Given the description of an element on the screen output the (x, y) to click on. 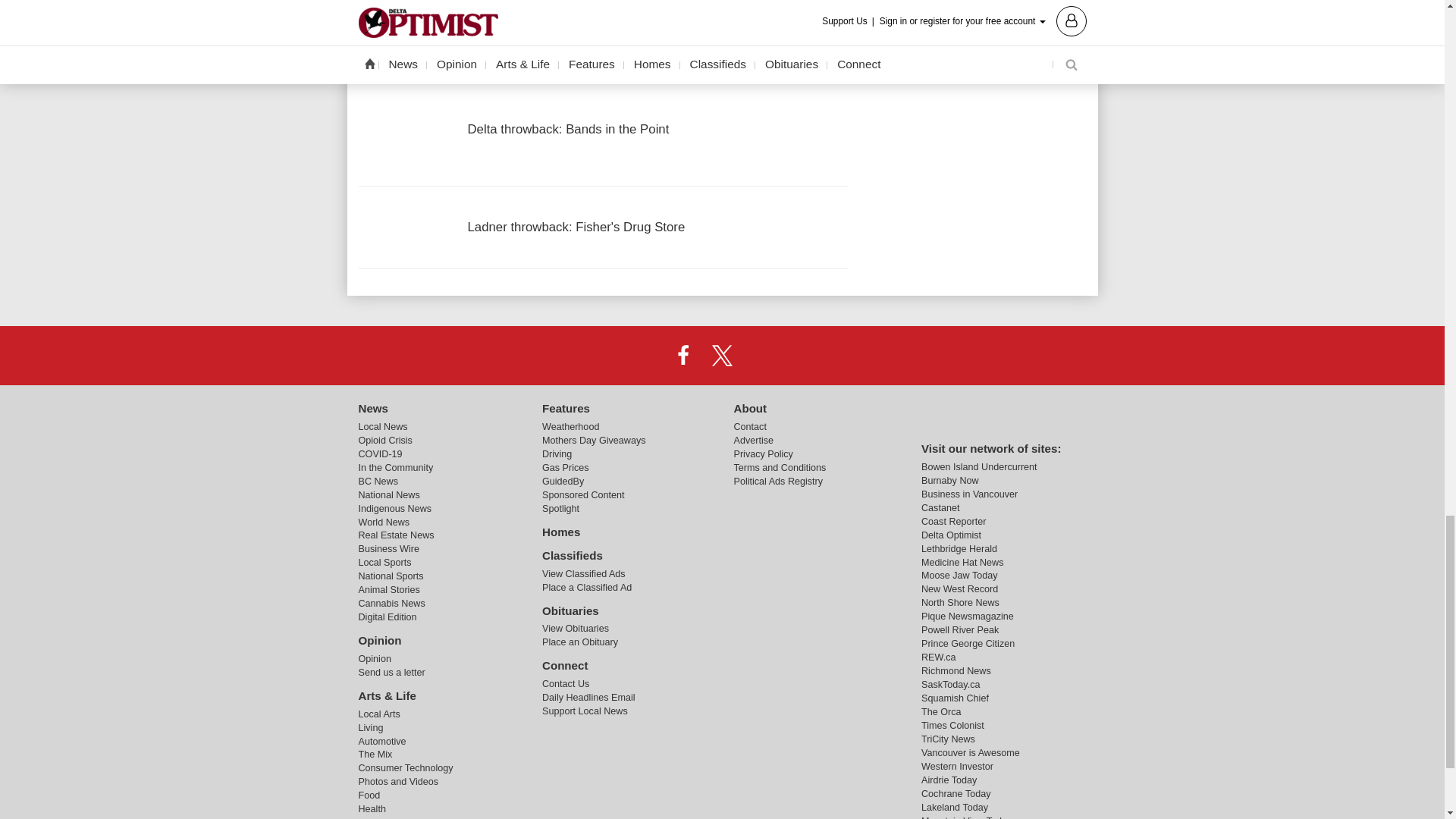
Instagram (760, 354)
Facebook (683, 354)
X (721, 354)
